Given the description of an element on the screen output the (x, y) to click on. 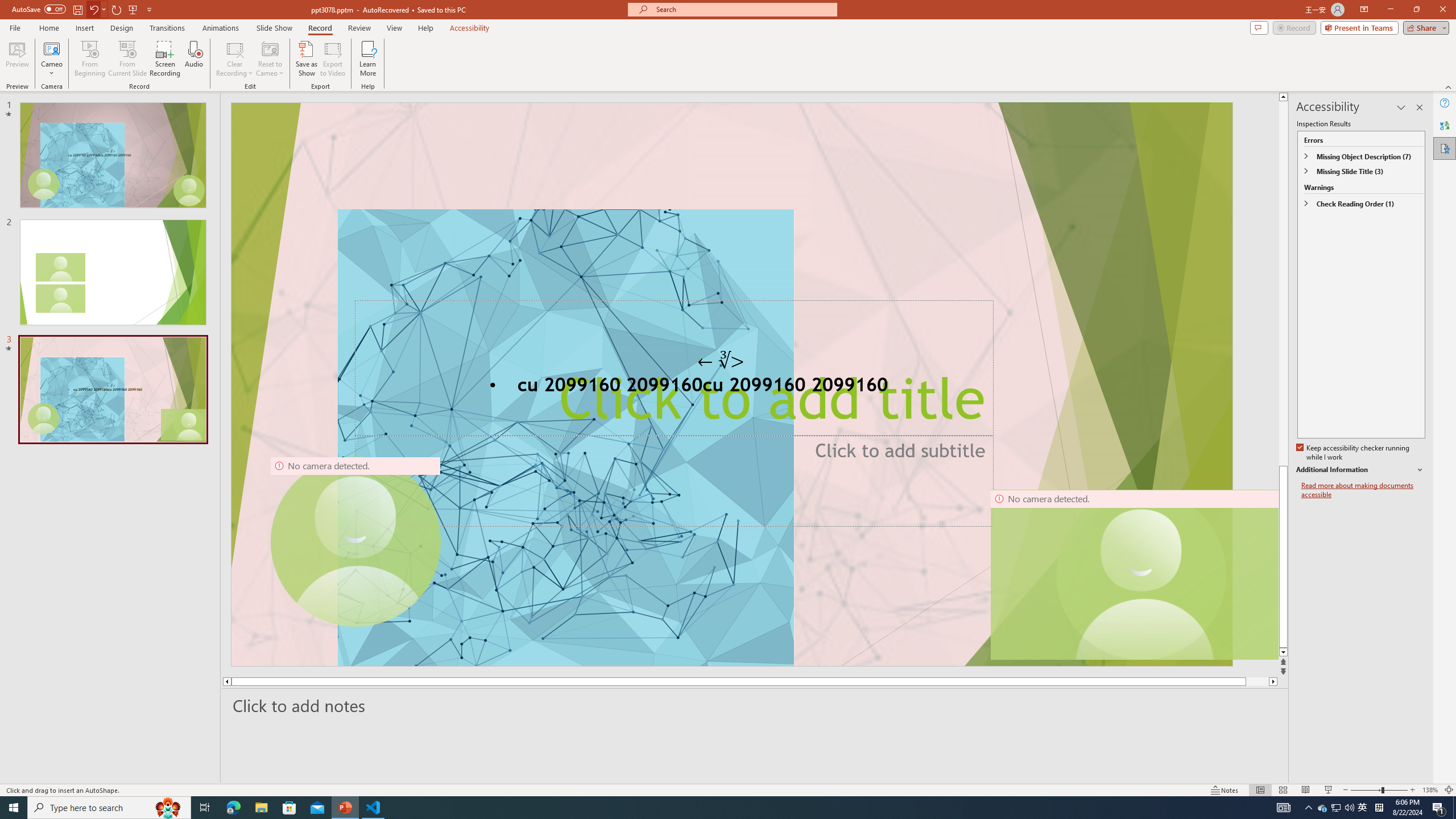
TextBox 61 (730, 386)
Camera 11, No camera detected. (1141, 574)
From Current Slide... (127, 58)
